Given the description of an element on the screen output the (x, y) to click on. 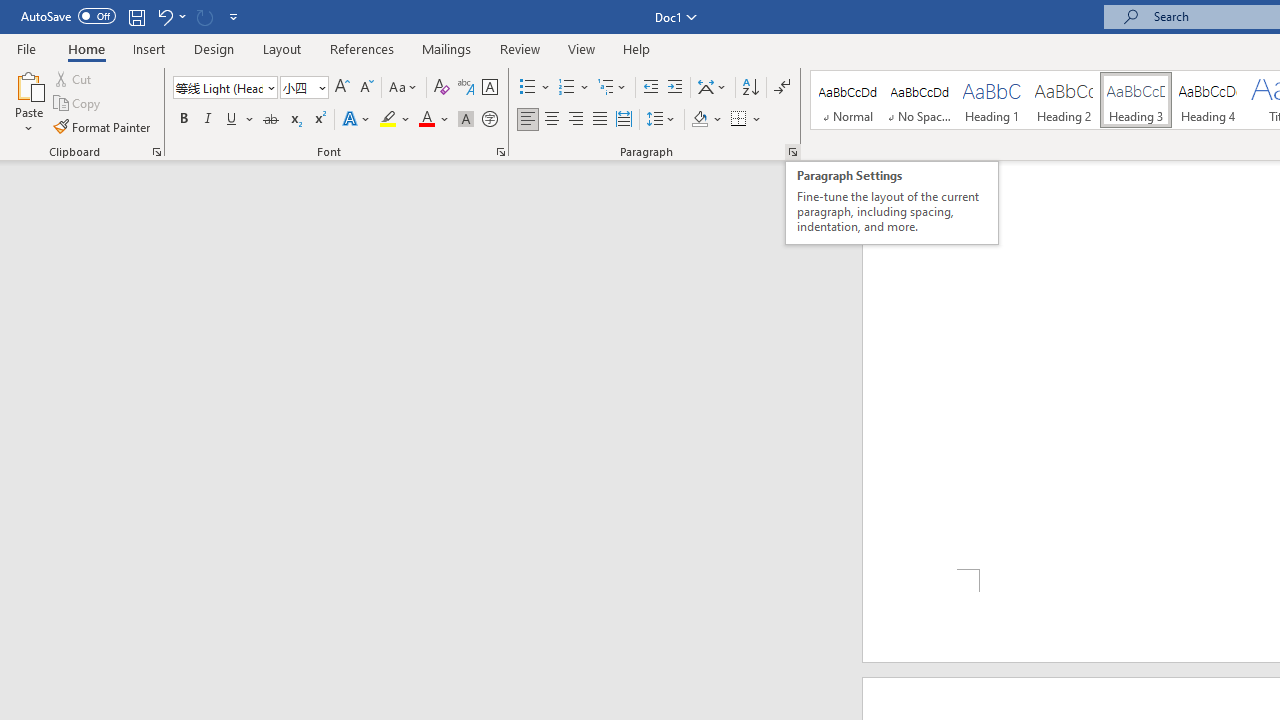
Subscript (294, 119)
Sort... (750, 87)
Change Case (404, 87)
Shading (706, 119)
Heading 3 (1135, 100)
Line and Paragraph Spacing (661, 119)
Text Effects and Typography (357, 119)
Asian Layout (712, 87)
Distributed (623, 119)
Phonetic Guide... (465, 87)
Text Highlight Color (395, 119)
Cut (73, 78)
